Given the description of an element on the screen output the (x, y) to click on. 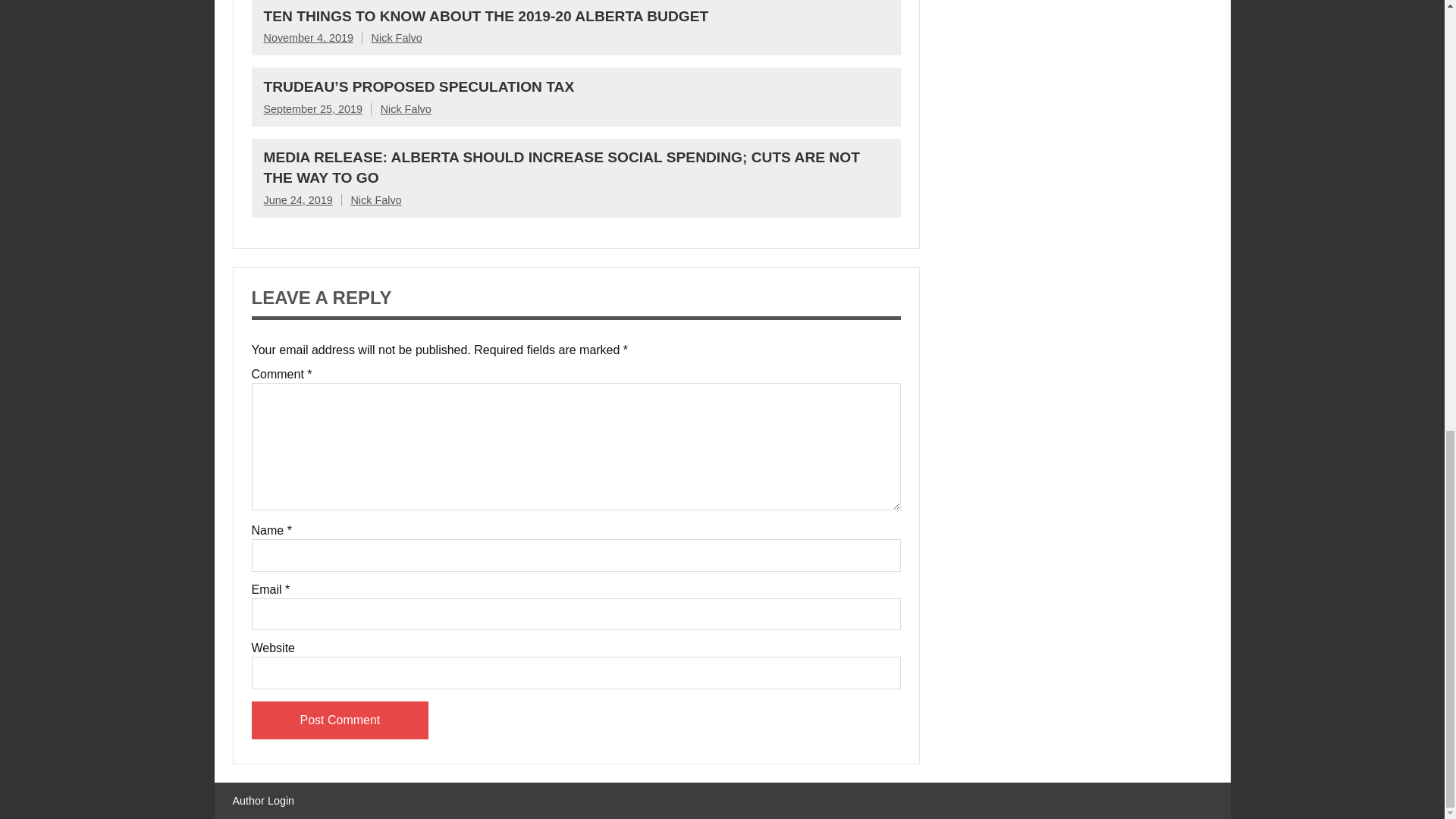
9:27 am (308, 37)
Post Comment (340, 720)
TEN THINGS TO KNOW ABOUT THE 2019-20 ALBERTA BUDGET (486, 16)
9:03 am (298, 200)
9:45 pm (312, 109)
View all posts by Nick Falvo (396, 37)
View all posts by Nick Falvo (375, 200)
View all posts by Nick Falvo (405, 109)
Nick Falvo (396, 37)
November 4, 2019 (308, 37)
